Given the description of an element on the screen output the (x, y) to click on. 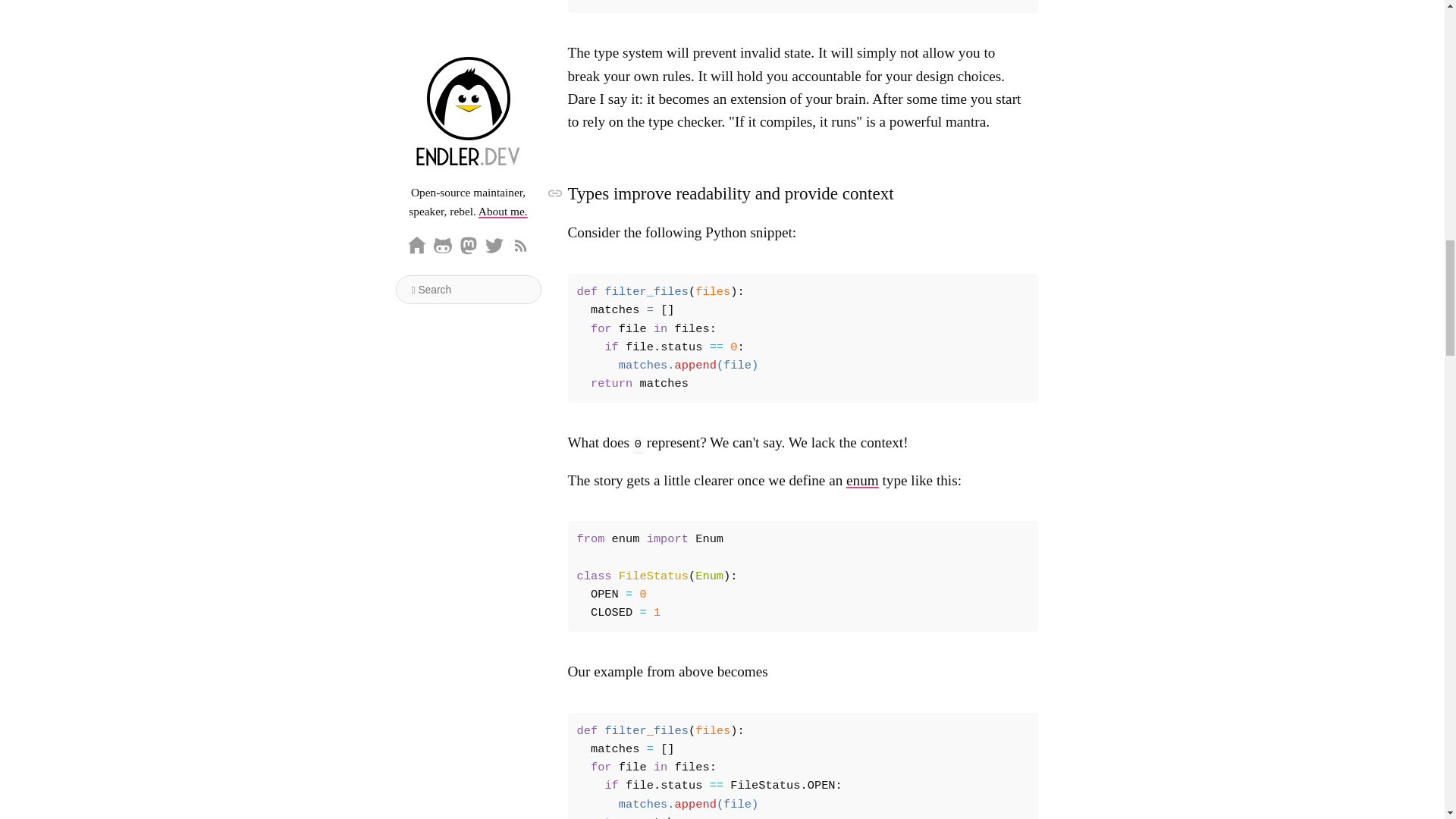
enum (862, 480)
